Given the description of an element on the screen output the (x, y) to click on. 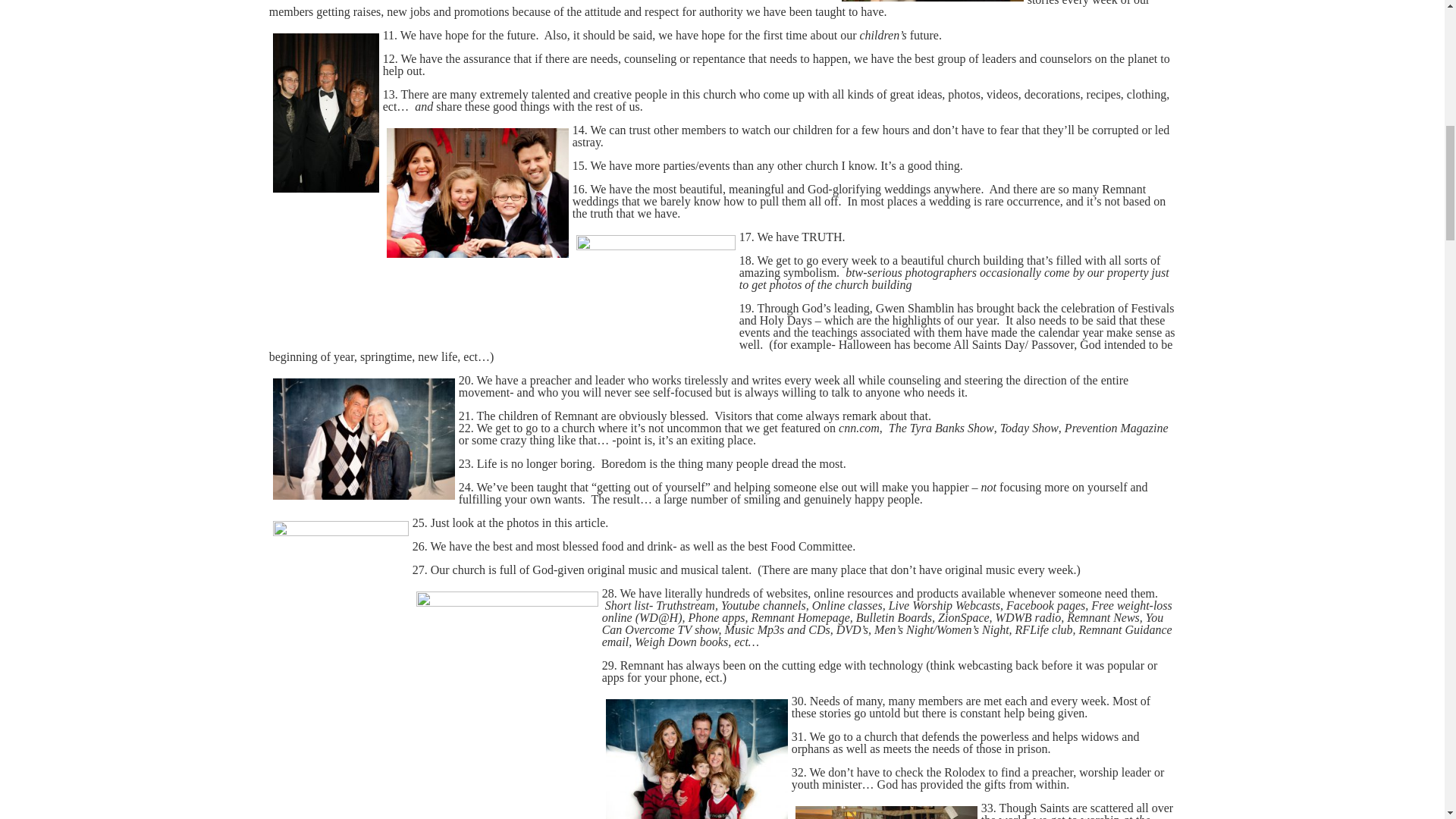
2Final Pictures-16-edit (478, 192)
DSC07364 (655, 287)
Final Pictures-106 (363, 438)
